Given the description of an element on the screen output the (x, y) to click on. 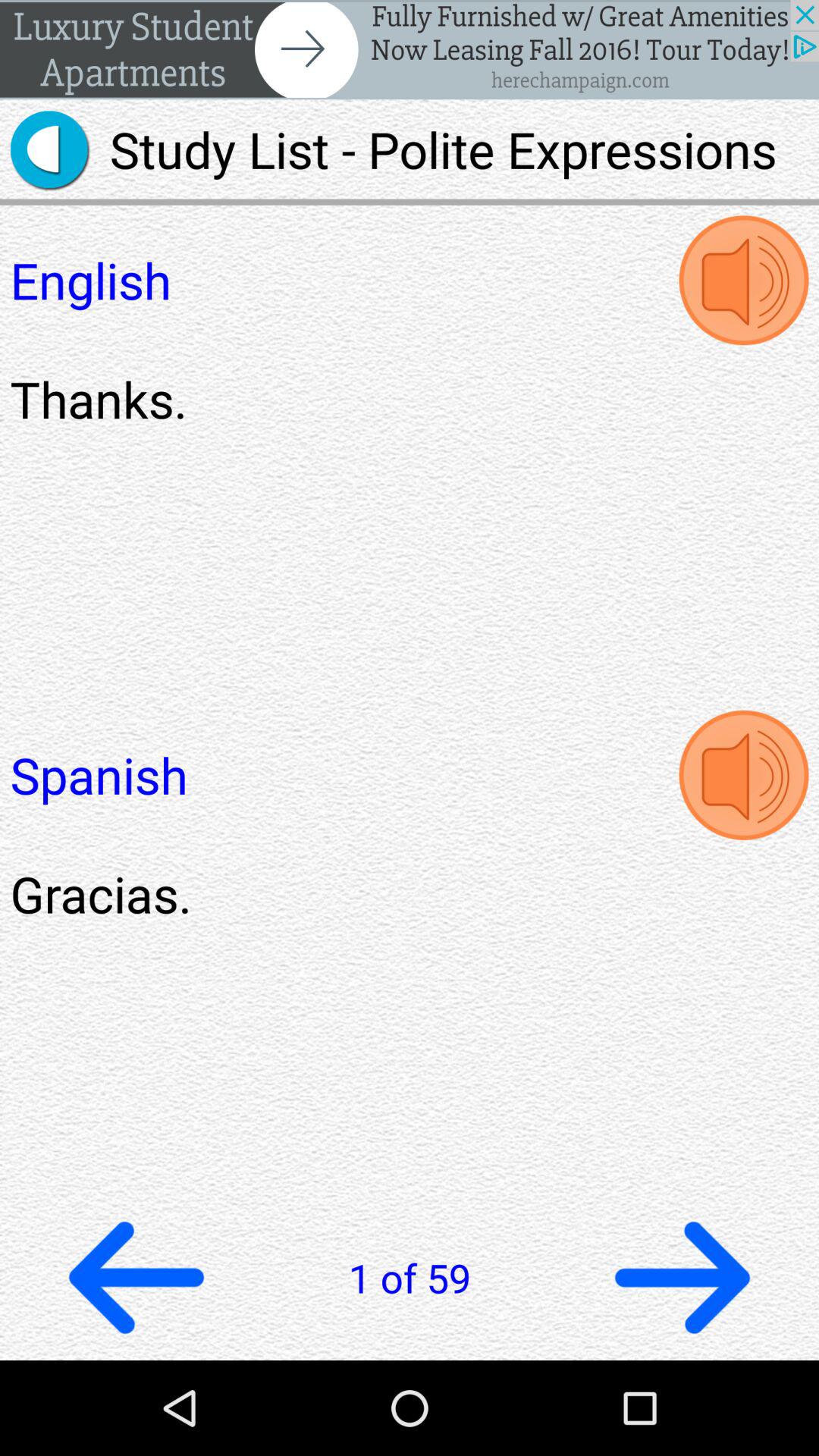
direction arrow (682, 1277)
